Given the description of an element on the screen output the (x, y) to click on. 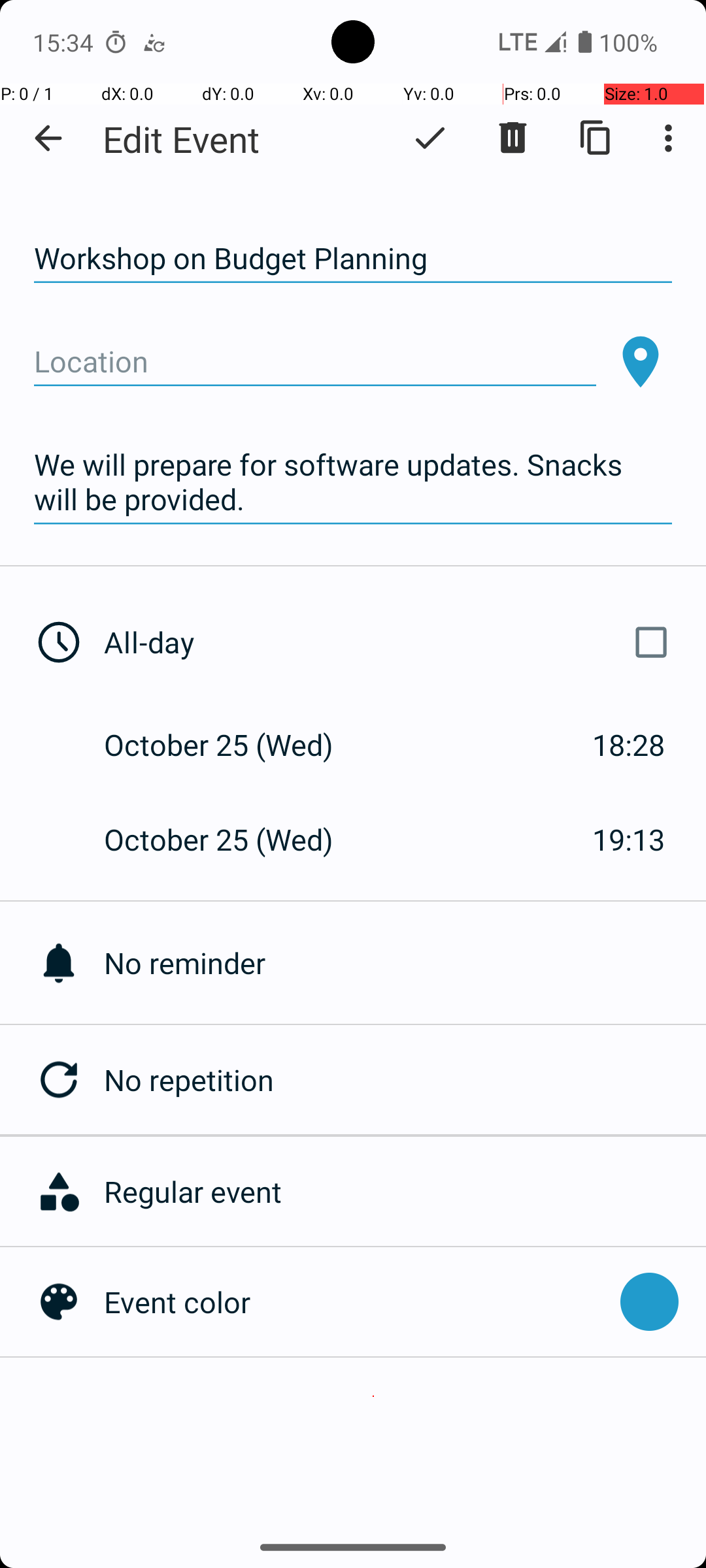
We will prepare for software updates. Snacks will be provided. Element type: android.widget.EditText (352, 482)
October 25 (Wed) Element type: android.widget.TextView (232, 744)
18:28 Element type: android.widget.TextView (628, 744)
19:13 Element type: android.widget.TextView (628, 838)
